Given the description of an element on the screen output the (x, y) to click on. 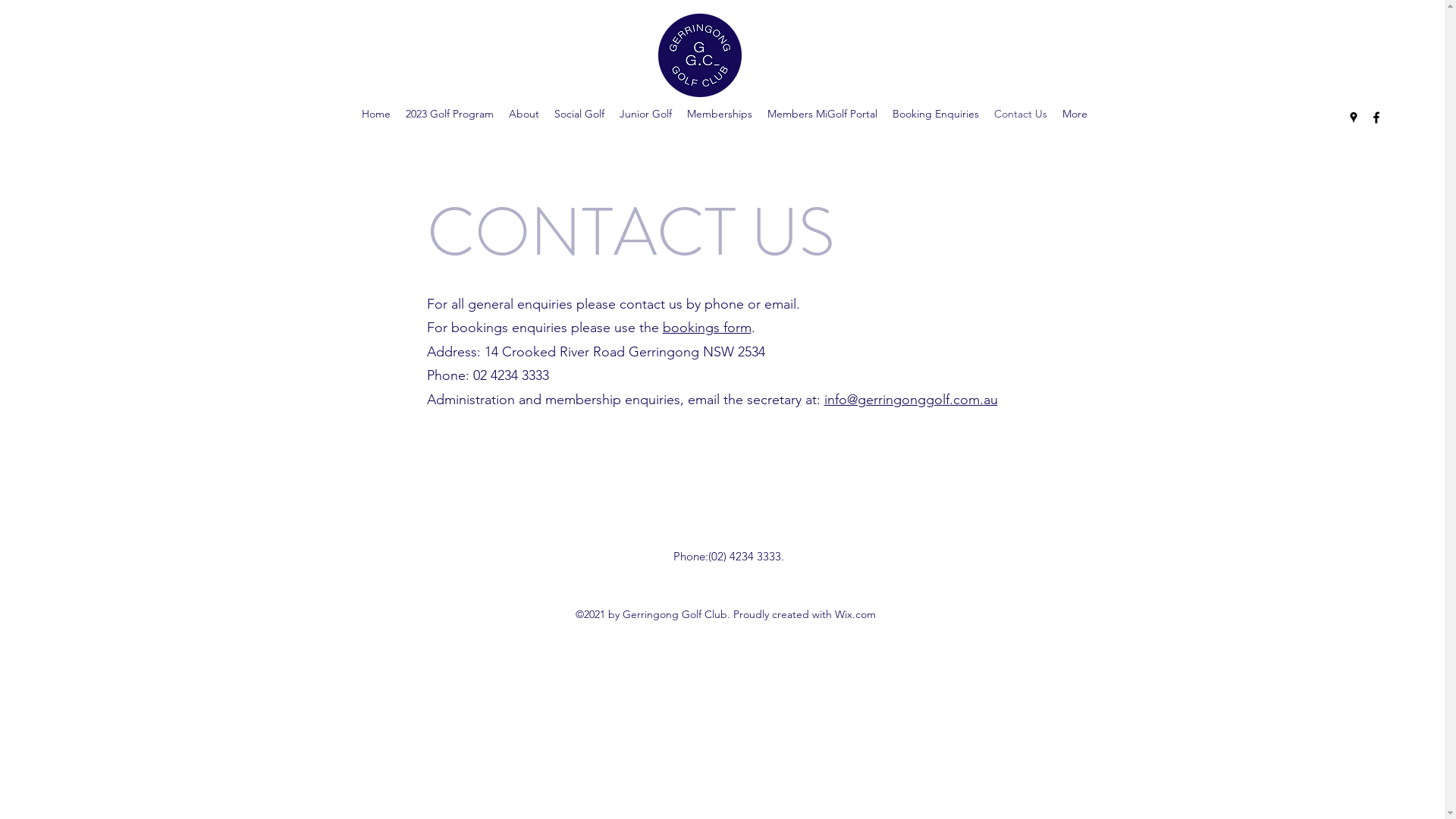
Junior Golf Element type: text (645, 113)
Memberships Element type: text (719, 113)
bookings form Element type: text (706, 327)
About Element type: text (523, 113)
Members MiGolf Portal Element type: text (821, 113)
Home Element type: text (376, 113)
Contact Us Element type: text (1020, 113)
Booking Enquiries Element type: text (935, 113)
2023 Golf Program Element type: text (449, 113)
info@gerringonggolf.com.au Element type: text (910, 399)
Social Golf Element type: text (578, 113)
